Given the description of an element on the screen output the (x, y) to click on. 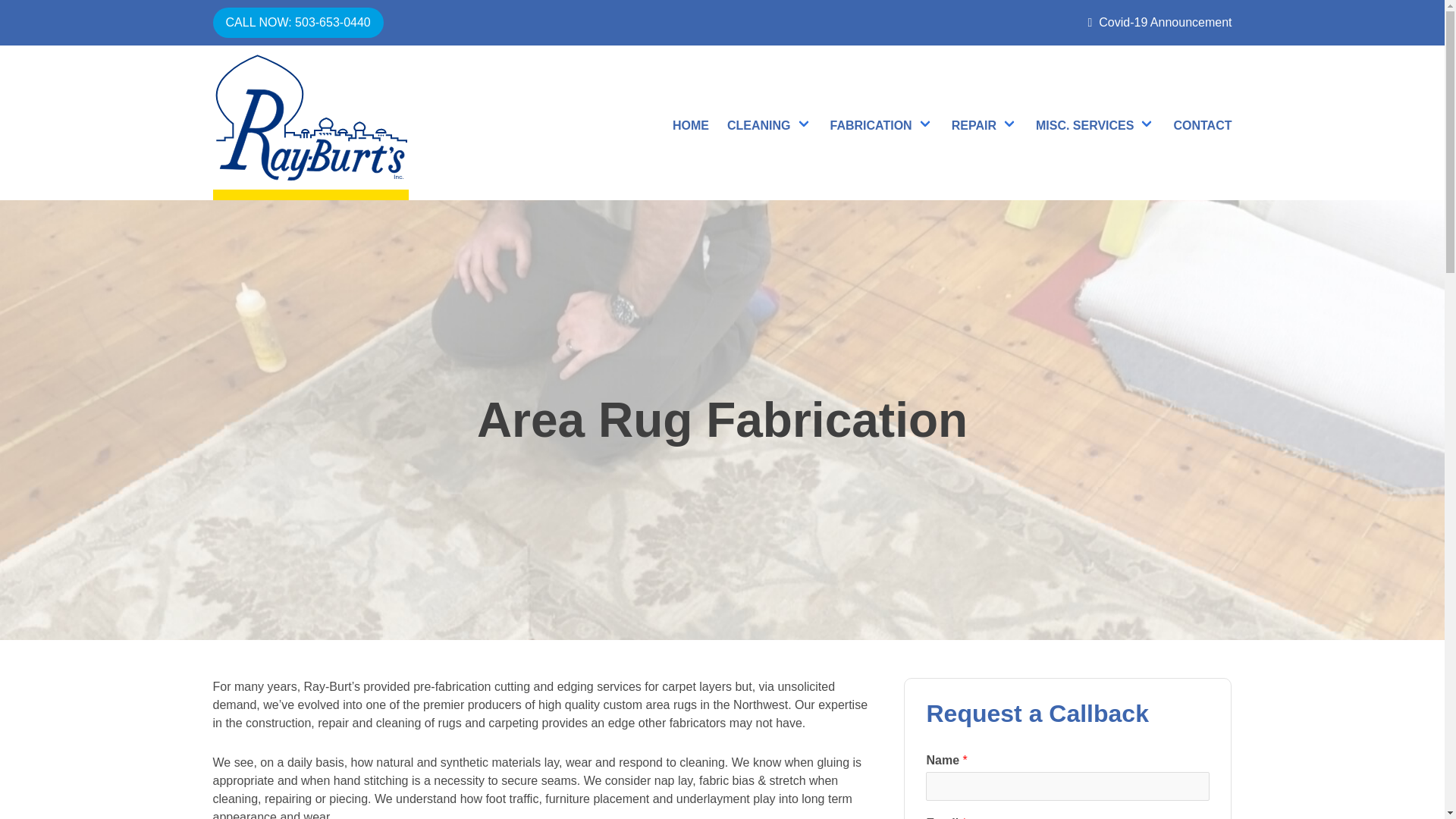
CALL NOW: 503-653-0440 (297, 22)
  Covid-19 Announcement (1159, 22)
MISC. SERVICES (1095, 122)
